Given the description of an element on the screen output the (x, y) to click on. 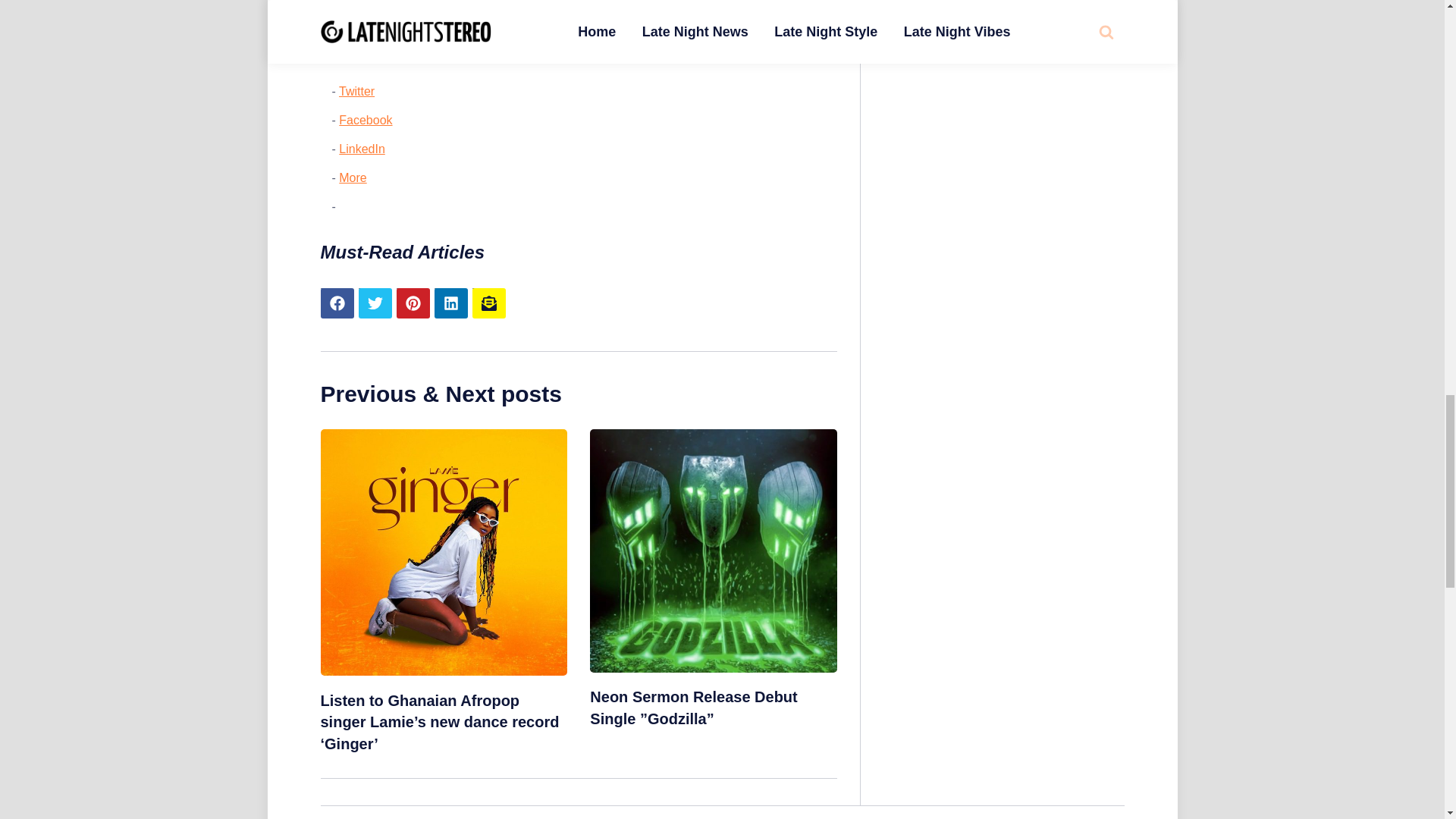
Click to share on Facebook (365, 119)
Click to share on LinkedIn (362, 148)
More (352, 177)
LinkedIn (362, 148)
Click to share on Twitter (356, 91)
Twitter (356, 91)
Facebook (365, 119)
